Given the description of an element on the screen output the (x, y) to click on. 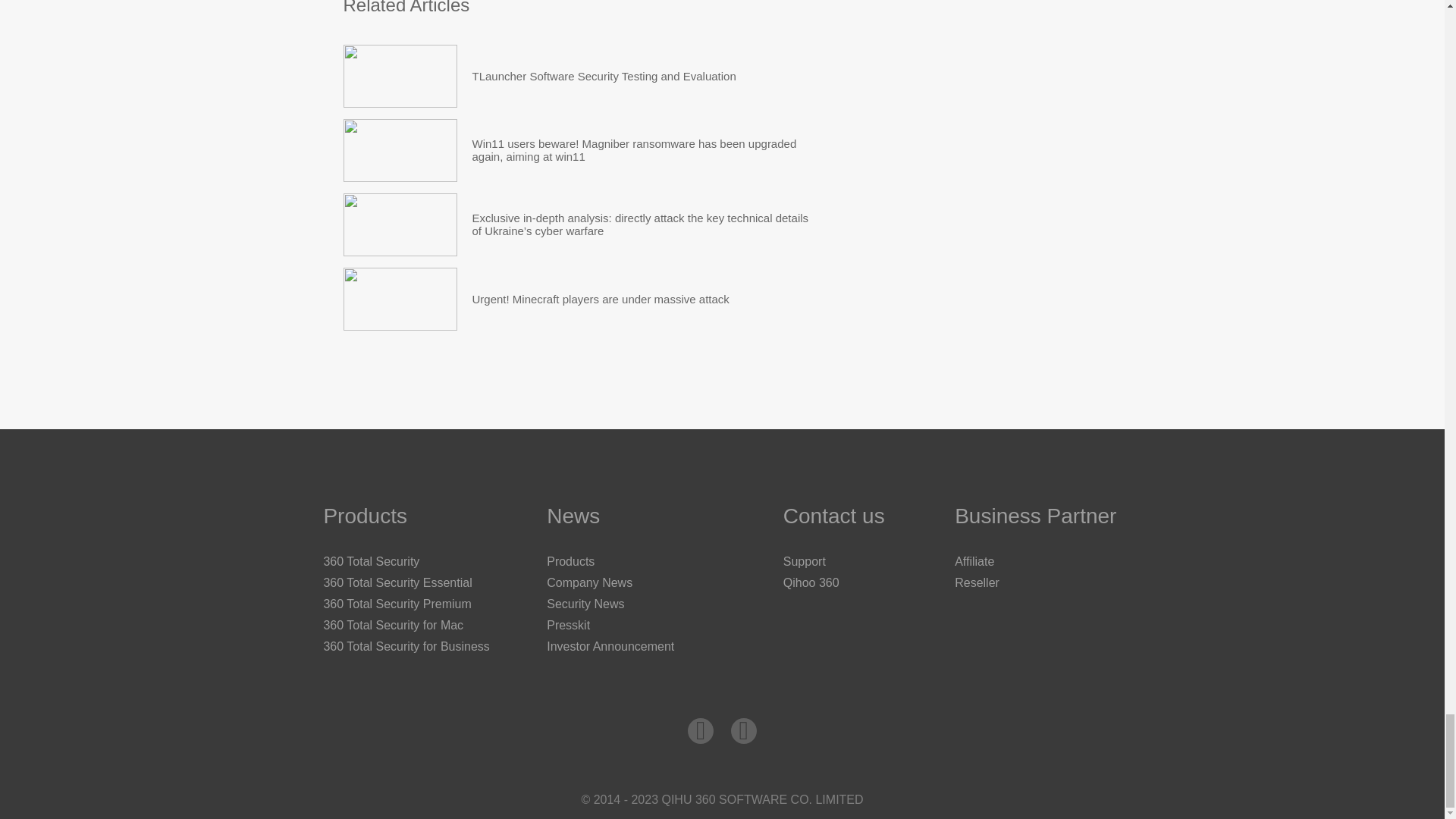
360 Total Security Essential (397, 582)
Urgent! Minecraft players are under massive attack (600, 298)
TLauncher Software Security Testing and Evaluation (399, 76)
360 Total Security (371, 561)
TLauncher Software Security Testing and Evaluation (603, 76)
Urgent! Minecraft players are under massive attack (600, 298)
Urgent! Minecraft players are under massive attack (399, 298)
TLauncher Software Security Testing and Evaluation (603, 76)
